Given the description of an element on the screen output the (x, y) to click on. 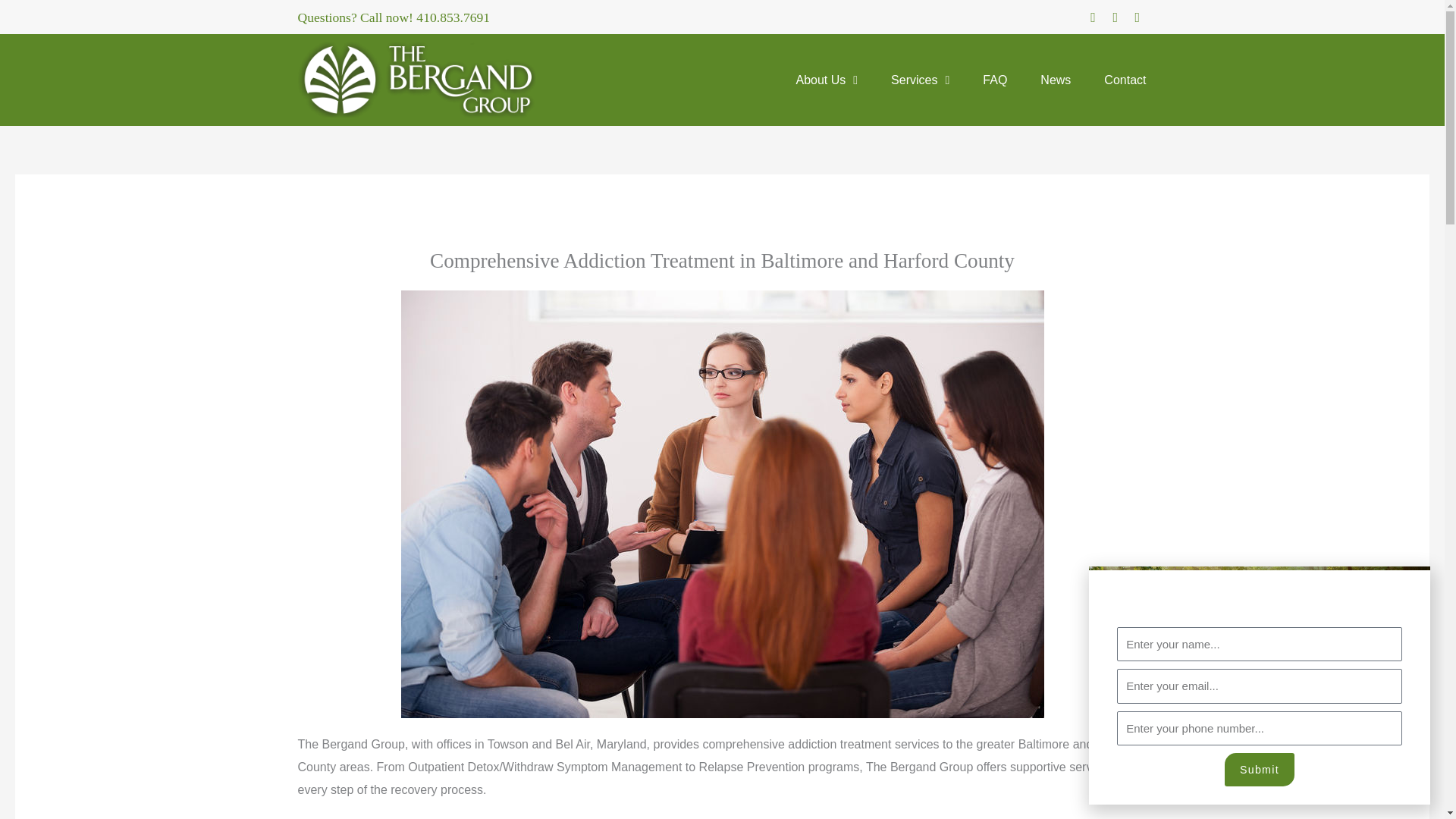
About Us (826, 80)
Instagram (1114, 16)
Services (919, 80)
Contact (1125, 80)
Twitter (1136, 16)
News (1055, 80)
Facebook (1092, 16)
